Given the description of an element on the screen output the (x, y) to click on. 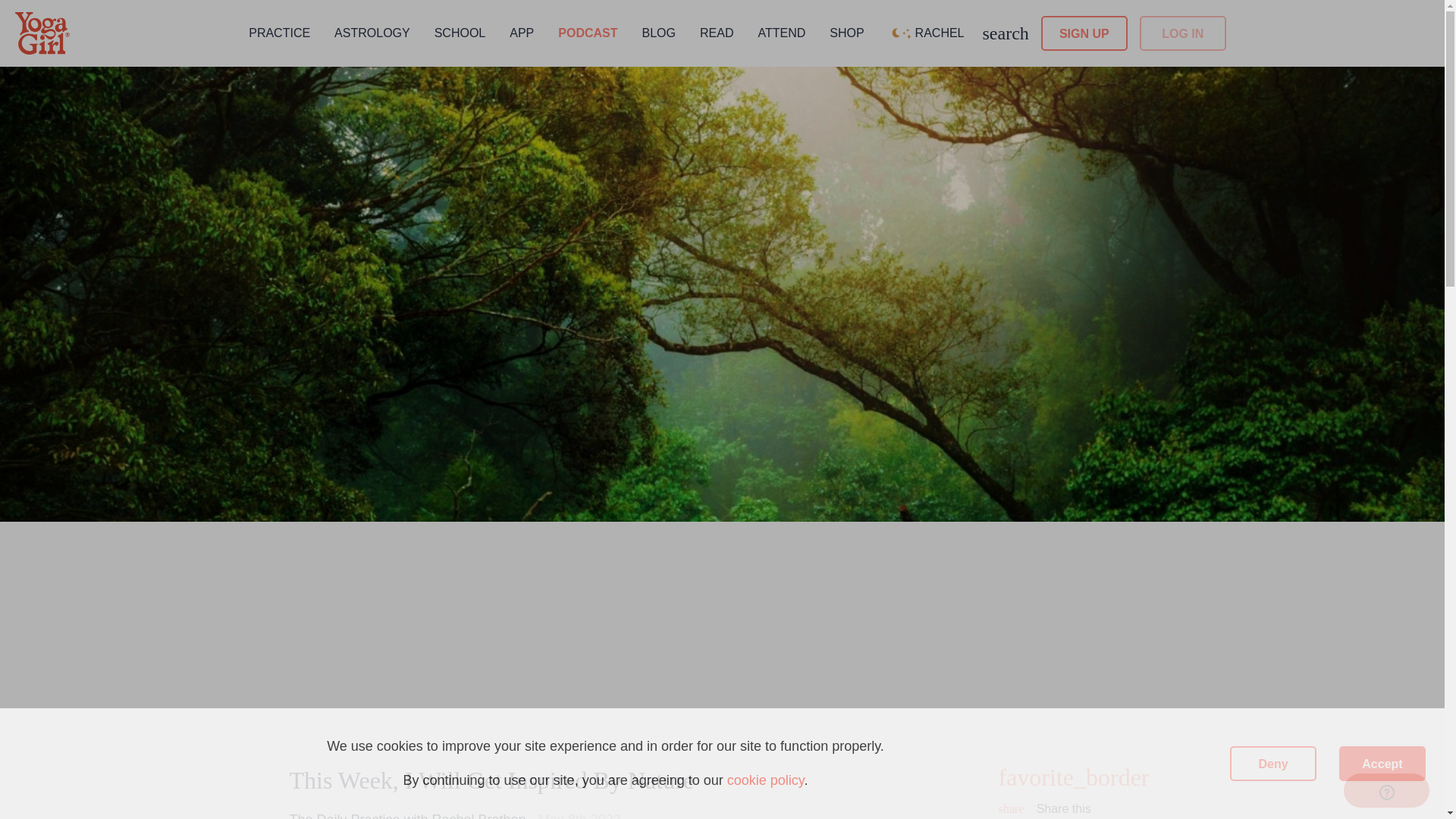
Favorite (1075, 776)
SCHOOL (459, 32)
PODCAST (587, 32)
ASTROLOGY (372, 32)
READ (716, 32)
APP (521, 32)
PRACTICE (279, 32)
ATTEND (781, 32)
BLOG (658, 32)
